Given the description of an element on the screen output the (x, y) to click on. 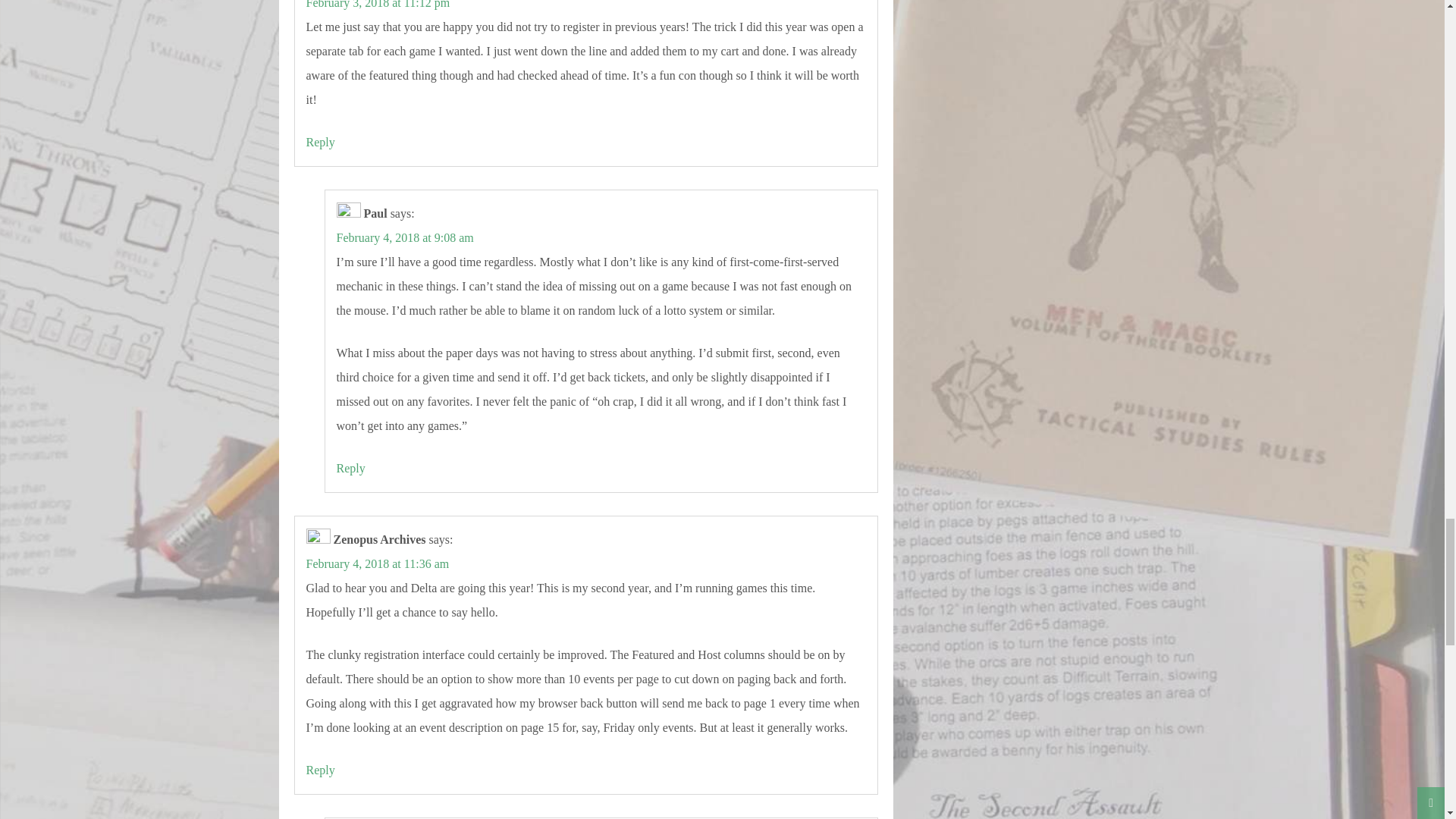
February 3, 2018 at 11:12 pm (377, 4)
Reply (319, 141)
February 4, 2018 at 9:08 am (405, 237)
